Given the description of an element on the screen output the (x, y) to click on. 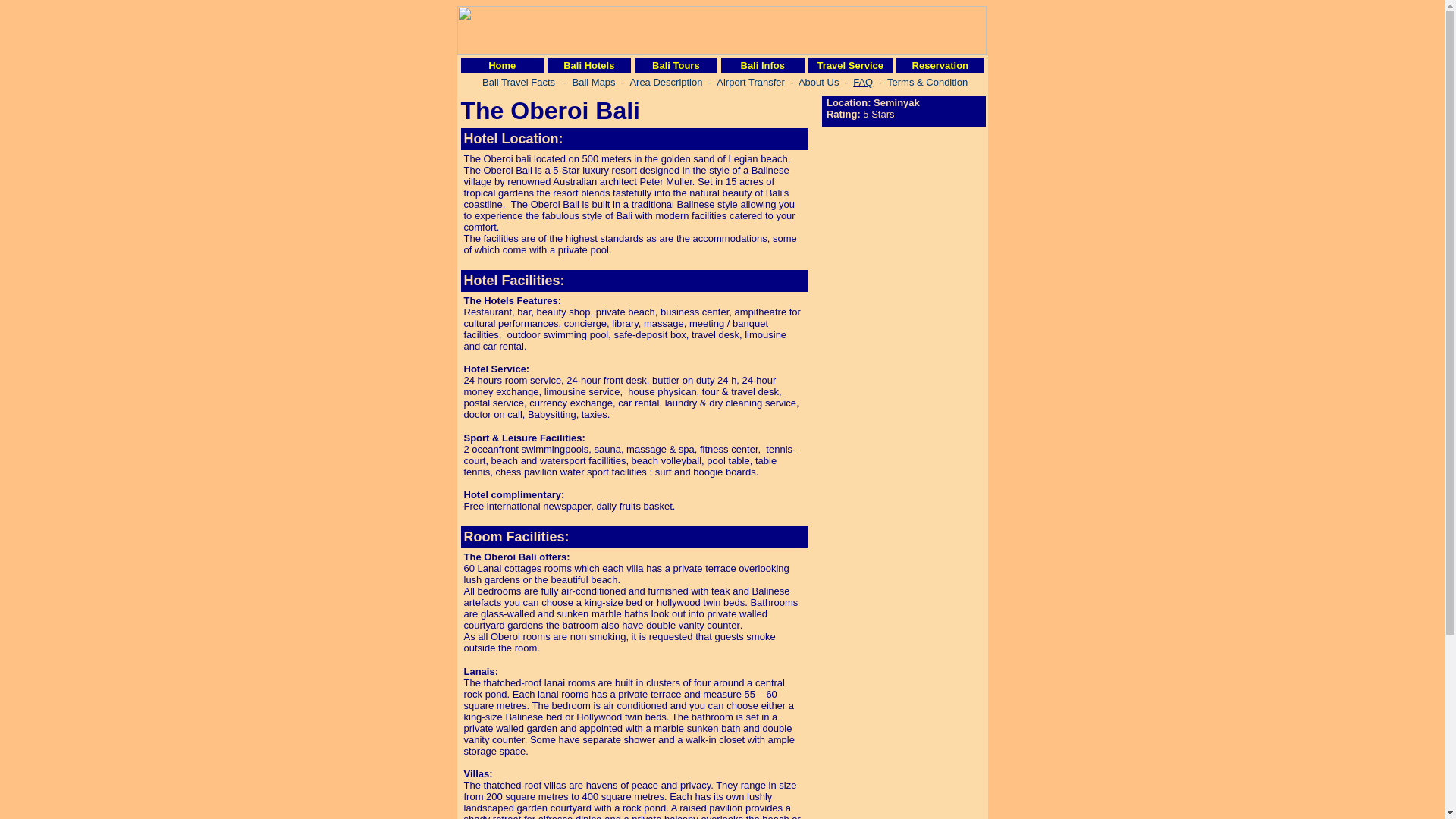
FAQ (862, 81)
Travel Service (849, 65)
Bali Hotels (588, 65)
Bali Infos (761, 65)
Home (501, 65)
Bali Maps (593, 81)
Bali Tours (676, 65)
Airport Transfer  (751, 81)
About Us (817, 81)
Area Description (664, 81)
Bali Travel Facts (517, 81)
Reservation (940, 65)
